Given the description of an element on the screen output the (x, y) to click on. 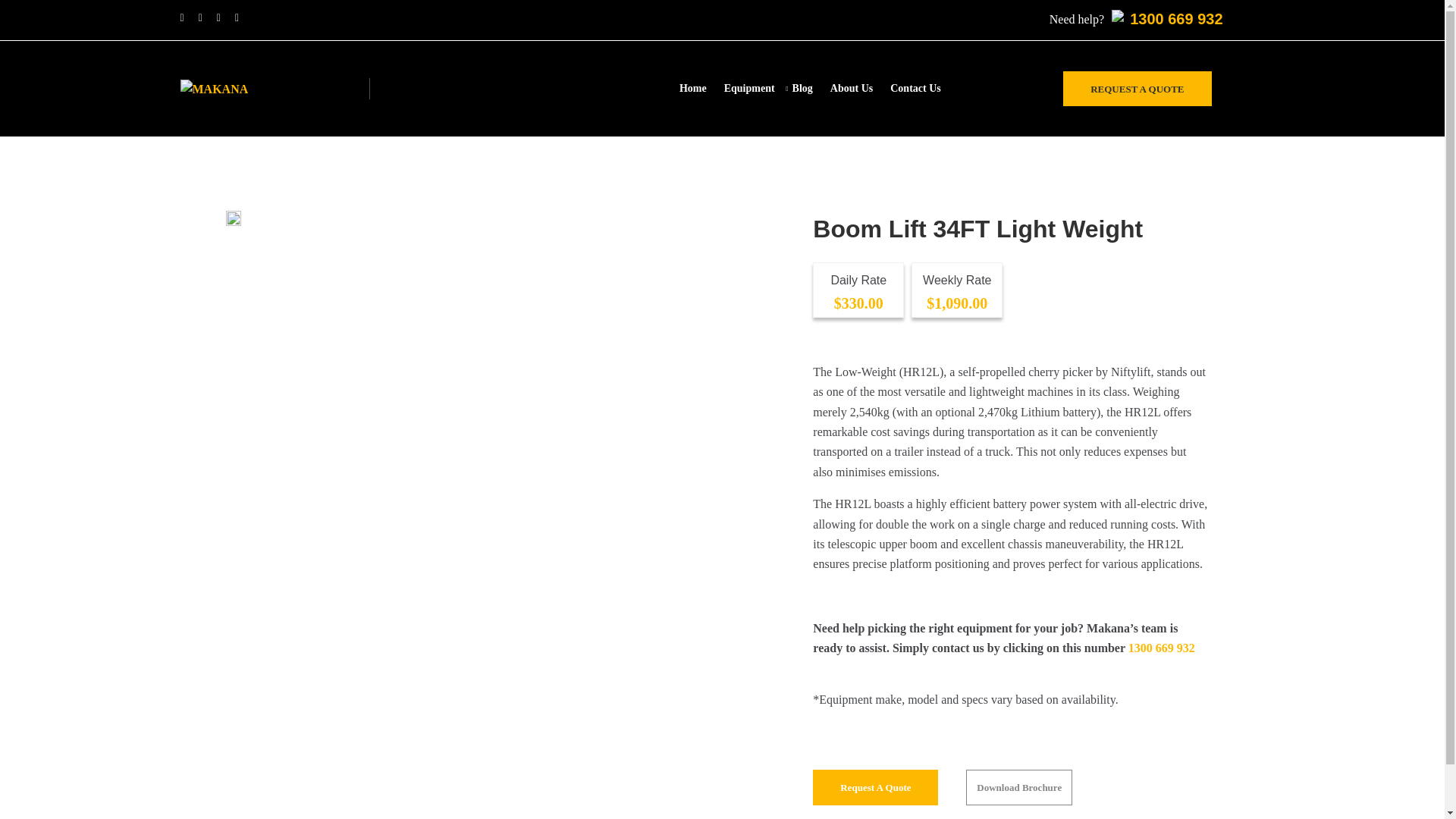
Contact Us (923, 88)
Blog (810, 88)
MAKANA (229, 87)
REQUEST A QUOTE (1136, 88)
Equipment (757, 88)
Home (701, 88)
1300 669 932 (1176, 21)
About Us (859, 88)
Nifty 34FT light weight webp (233, 218)
